Given the description of an element on the screen output the (x, y) to click on. 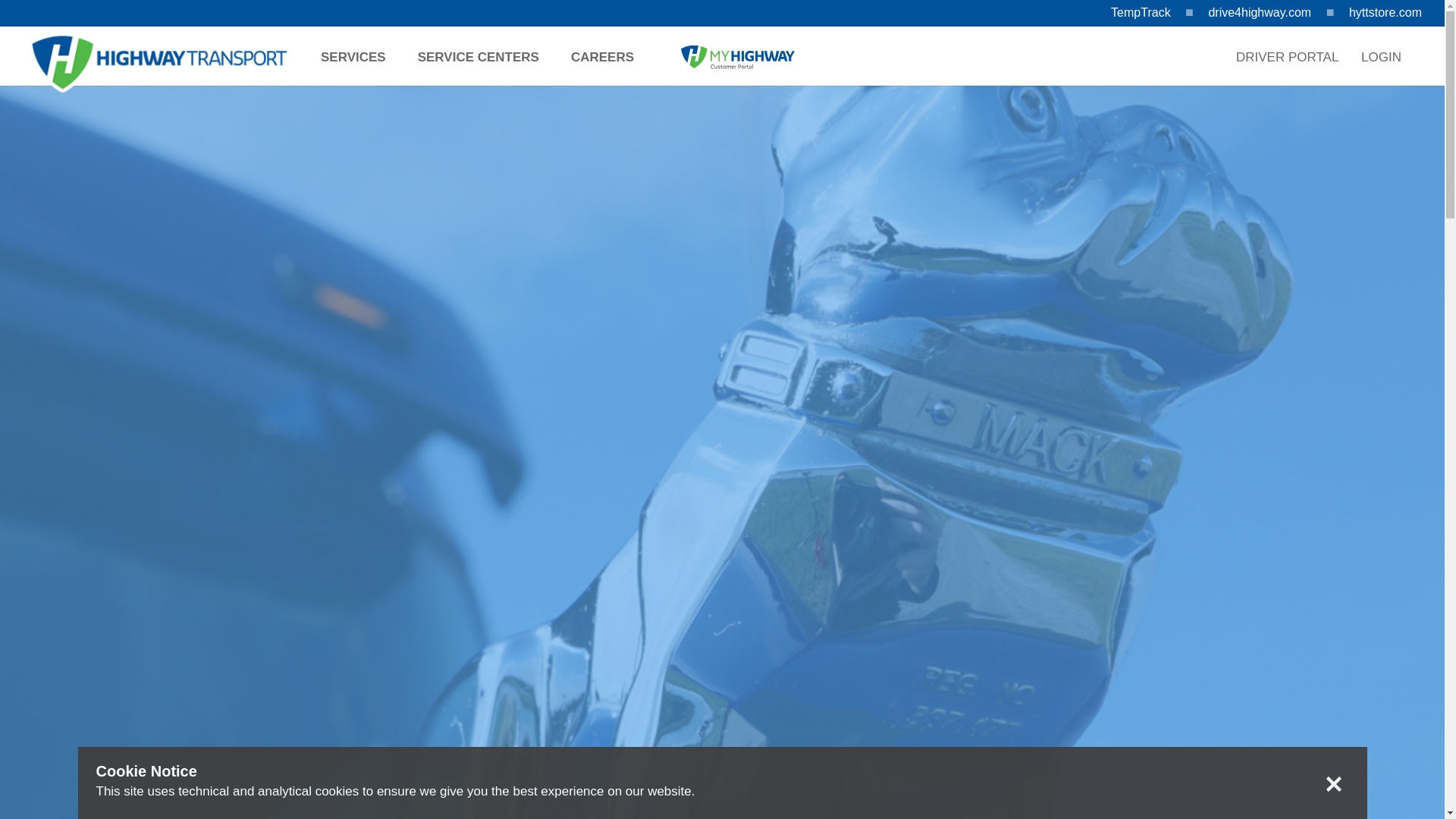
MYHIGHWAY (737, 58)
SERVICE CENTERS (485, 68)
drive4highway.com (1259, 11)
CAREERS (609, 68)
SERVICES (360, 68)
Close privacy notice (1332, 784)
hyttstore.com (1385, 11)
TempTrack (1140, 11)
Search (1258, 144)
